Given the description of an element on the screen output the (x, y) to click on. 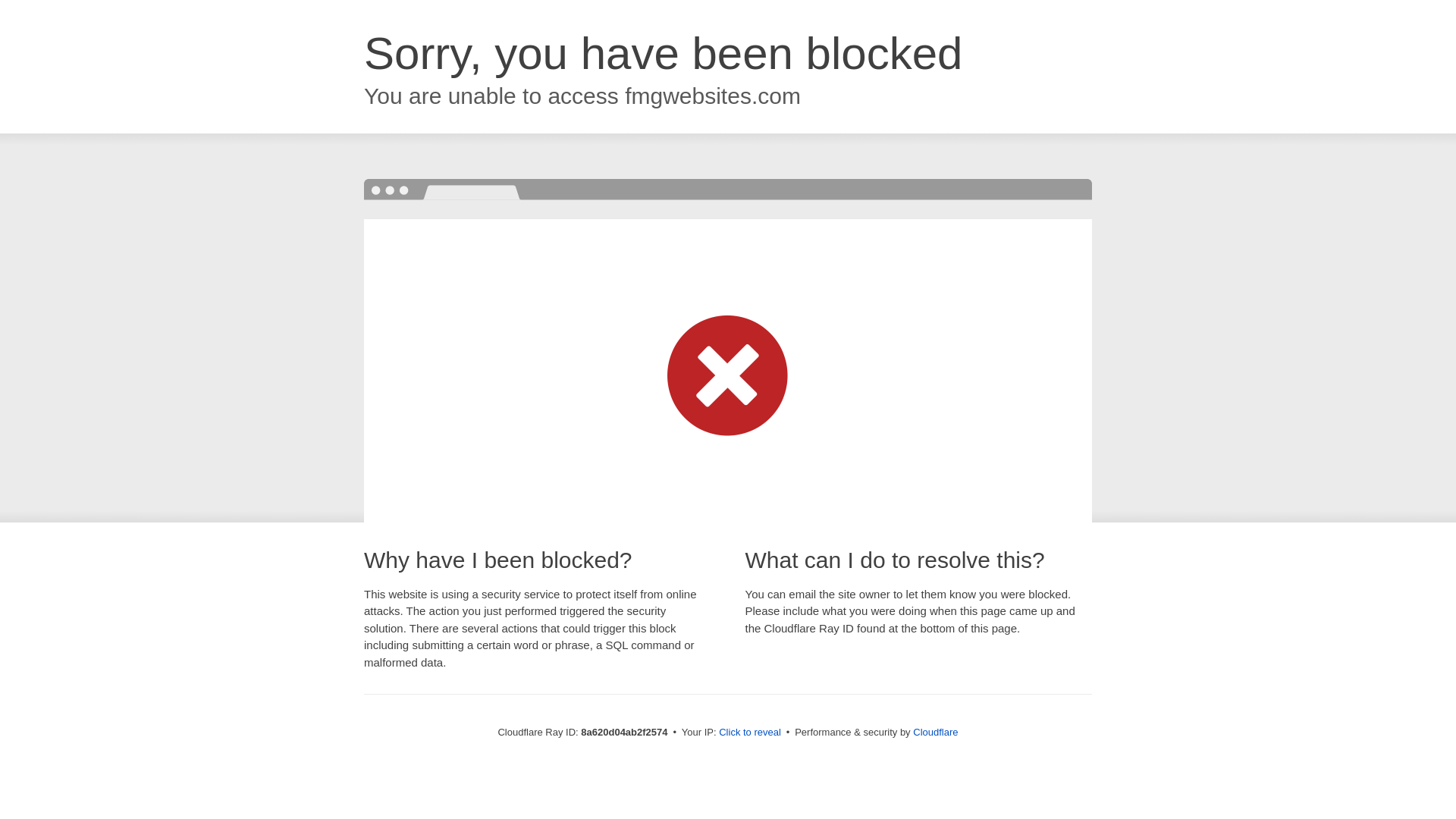
Cloudflare (935, 731)
Click to reveal (749, 732)
